Given the description of an element on the screen output the (x, y) to click on. 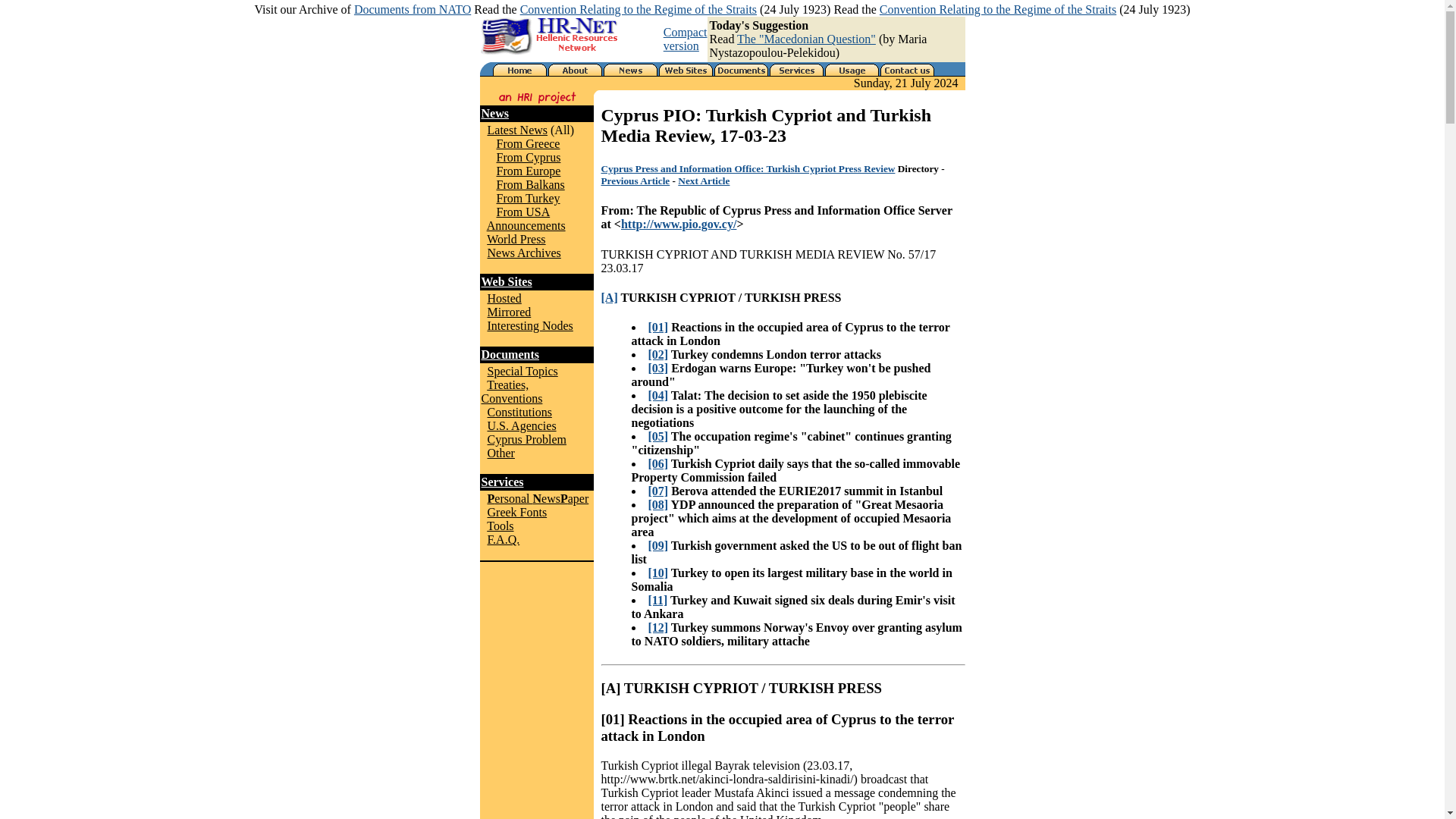
From USA (523, 211)
U.S. Agencies (521, 425)
Other (499, 452)
Documents from NATO (411, 9)
Constitutions (518, 411)
Documents (509, 354)
Treaties, Conventions (510, 391)
From Turkey (527, 197)
Convention Relating to the Regime of the Straits (997, 9)
Convention Relating to the Regime of the Straits (638, 9)
Web Sites (505, 281)
Cyprus Problem (526, 439)
From Balkans (530, 184)
Compact version (685, 38)
News Archives (523, 252)
